Given the description of an element on the screen output the (x, y) to click on. 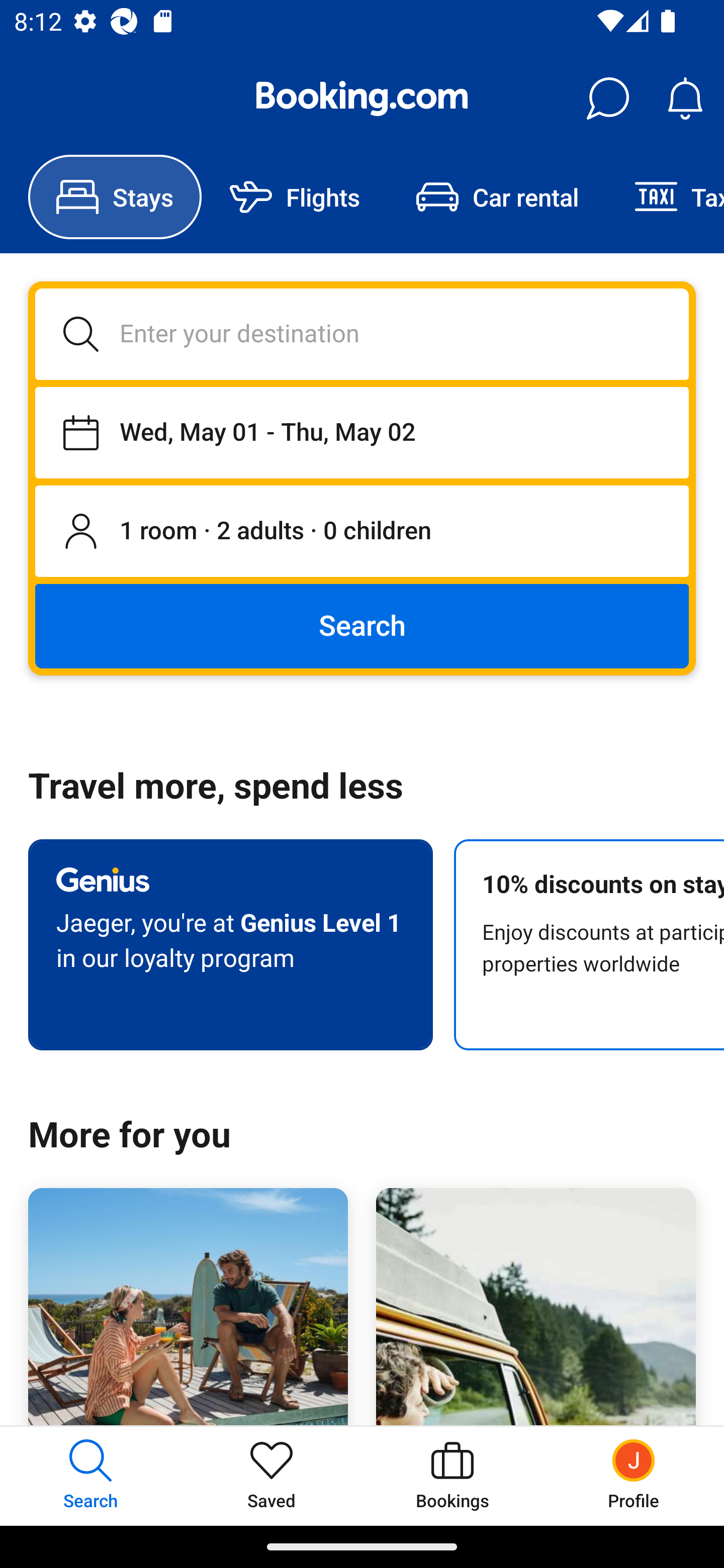
Messages (607, 98)
Notifications (685, 98)
Stays (114, 197)
Flights (294, 197)
Car rental (497, 197)
Taxi (665, 197)
Enter your destination (361, 333)
Staying from Wed, May 01 until Thu, May 02 (361, 432)
1 room, 2 adults, 0 children (361, 531)
Search (361, 625)
Seize the moment Save 15% or more on stays (188, 1306)
Travel articles (535, 1306)
Saved (271, 1475)
Bookings (452, 1475)
Profile (633, 1475)
